Given the description of an element on the screen output the (x, y) to click on. 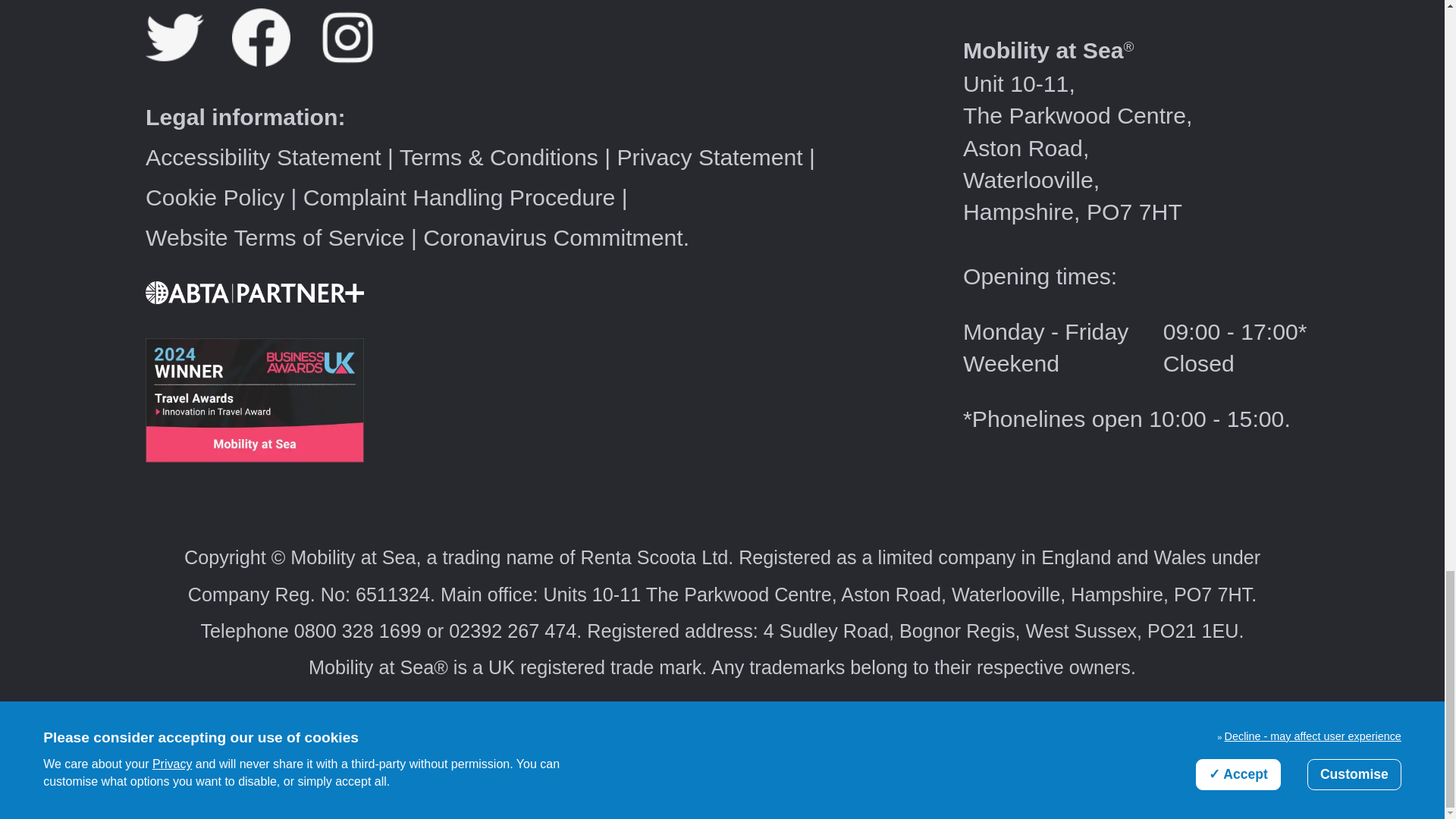
Our Coronavirus Commitment (552, 237)
Website terms of service (274, 237)
Coronavirus Commitment (552, 237)
Privacy Statement (708, 156)
Terms and conditions of equipment hire (498, 156)
Accessibility statement and WCAG 2.1 compliance (263, 156)
Complaint Handling Procedure (458, 197)
Cookie Policy (214, 197)
Mobility at Sea on Facebook (274, 58)
Mobility at Sea on Instagram (358, 58)
